Given the description of an element on the screen output the (x, y) to click on. 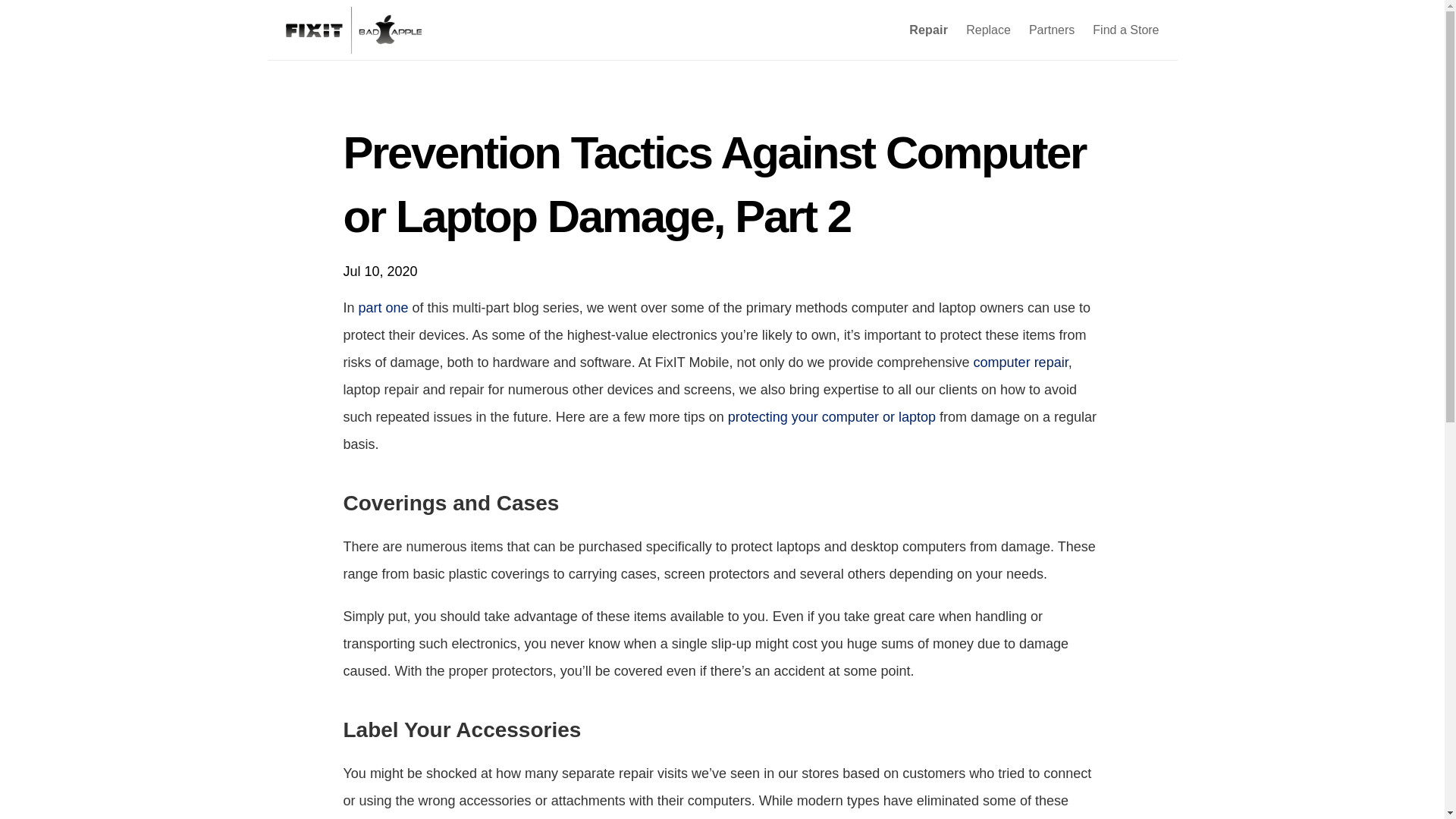
part one (383, 307)
Partners (1051, 29)
Replace (988, 29)
Find a Store (1125, 29)
protecting your computer or laptop (832, 417)
computer repair (1021, 362)
